Given the description of an element on the screen output the (x, y) to click on. 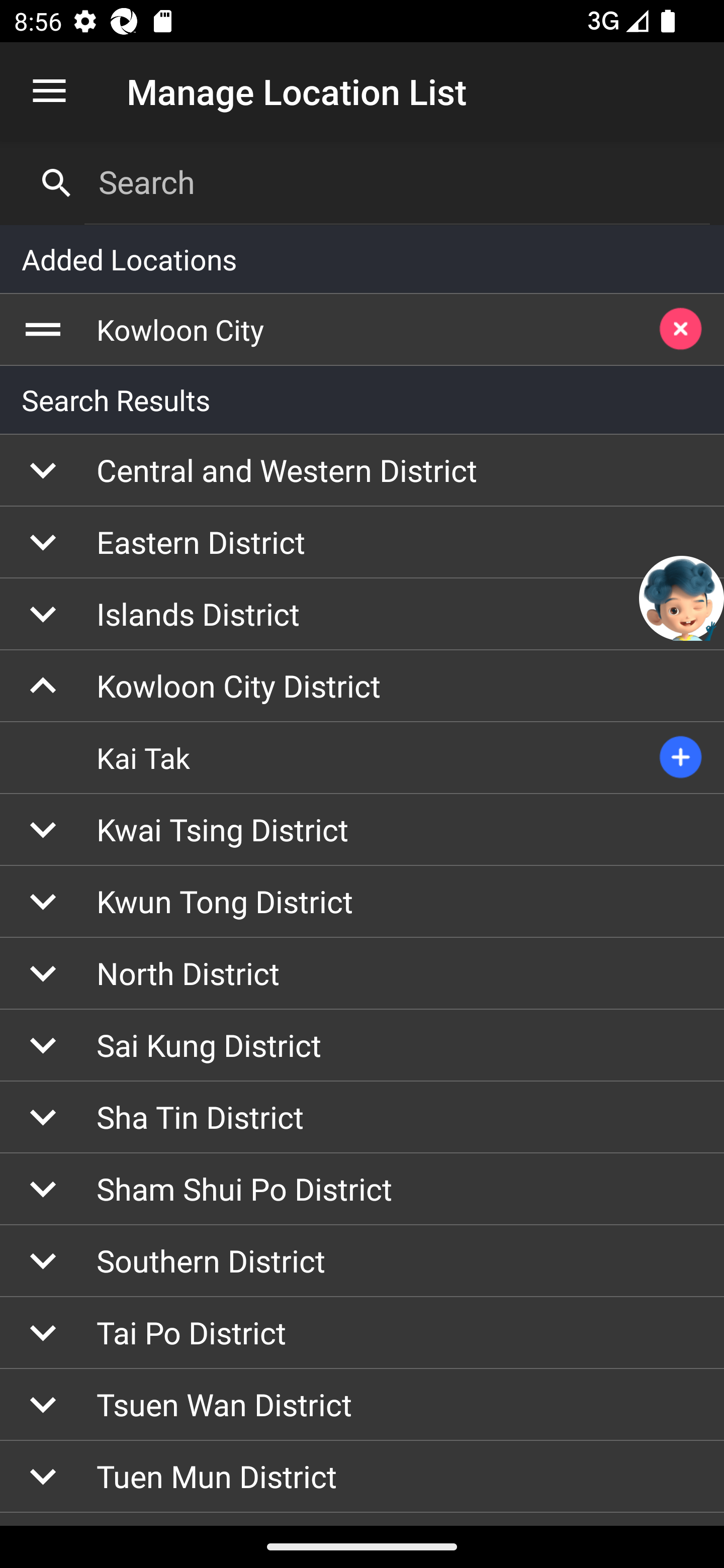
Navigate up (49, 91)
Search (397, 181)
Remove (680, 329)
Expand Central and Western District (362, 470)
Expand Eastern District (362, 542)
Chatbot (681, 598)
Expand Islands District (362, 614)
Collapse Kowloon City District (362, 686)
Add (680, 757)
Expand Kwai Tsing District (362, 829)
Expand Kwun Tong District (362, 901)
Expand North District (362, 973)
Expand Sai Kung District (362, 1045)
Expand Sha Tin District (362, 1117)
Expand Sham Shui Po District (362, 1189)
Expand Southern District (362, 1260)
Expand Tai Po District (362, 1332)
Expand Tsuen Wan District (362, 1404)
Expand Tuen Mun District (362, 1476)
